Given the description of an element on the screen output the (x, y) to click on. 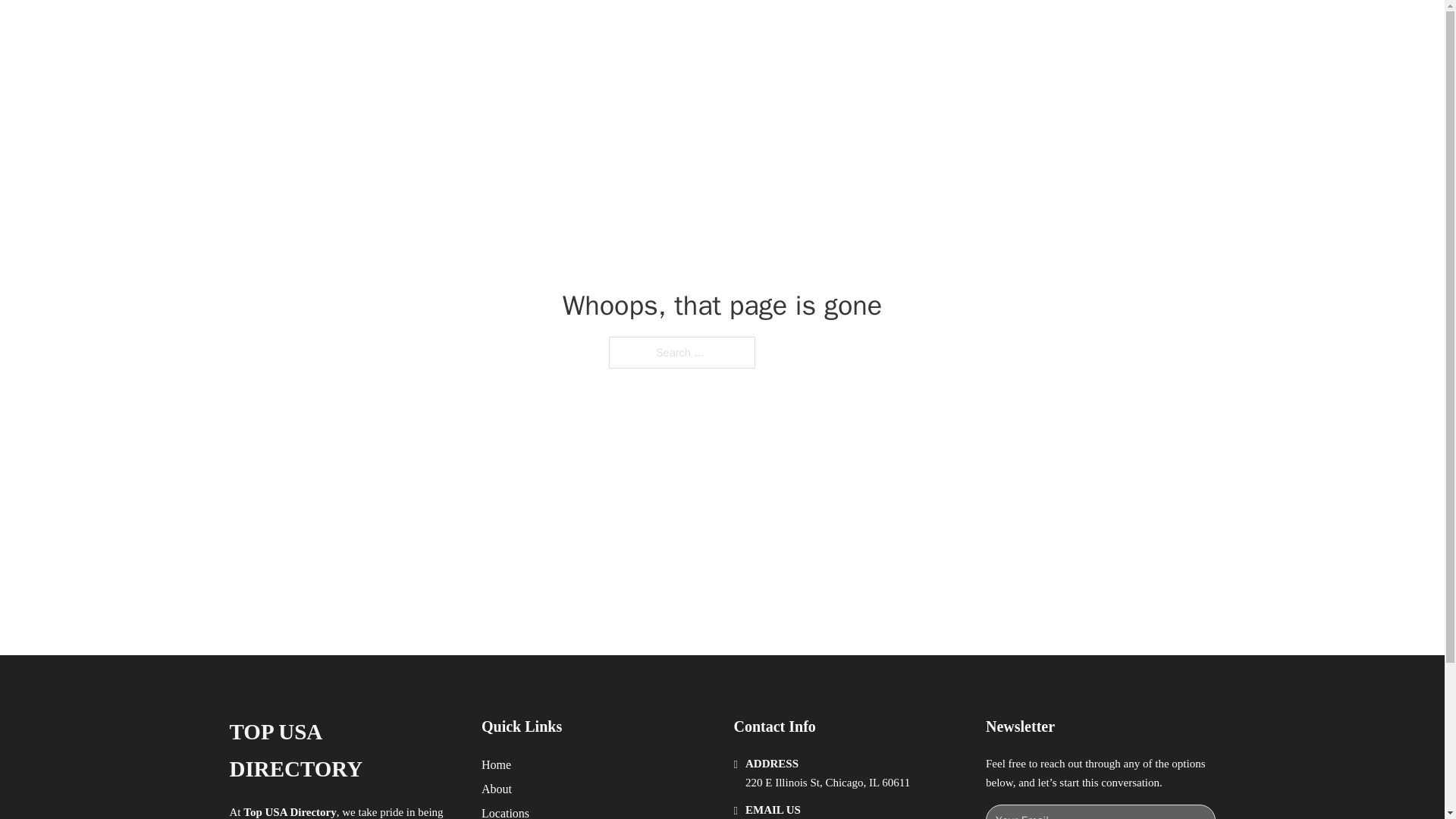
LOCATIONS (990, 29)
HOME (919, 29)
TOP USA DIRECTORY (343, 750)
About (496, 788)
Locations (505, 811)
TOP USA DIRECTORY (414, 28)
Home (496, 764)
